Given the description of an element on the screen output the (x, y) to click on. 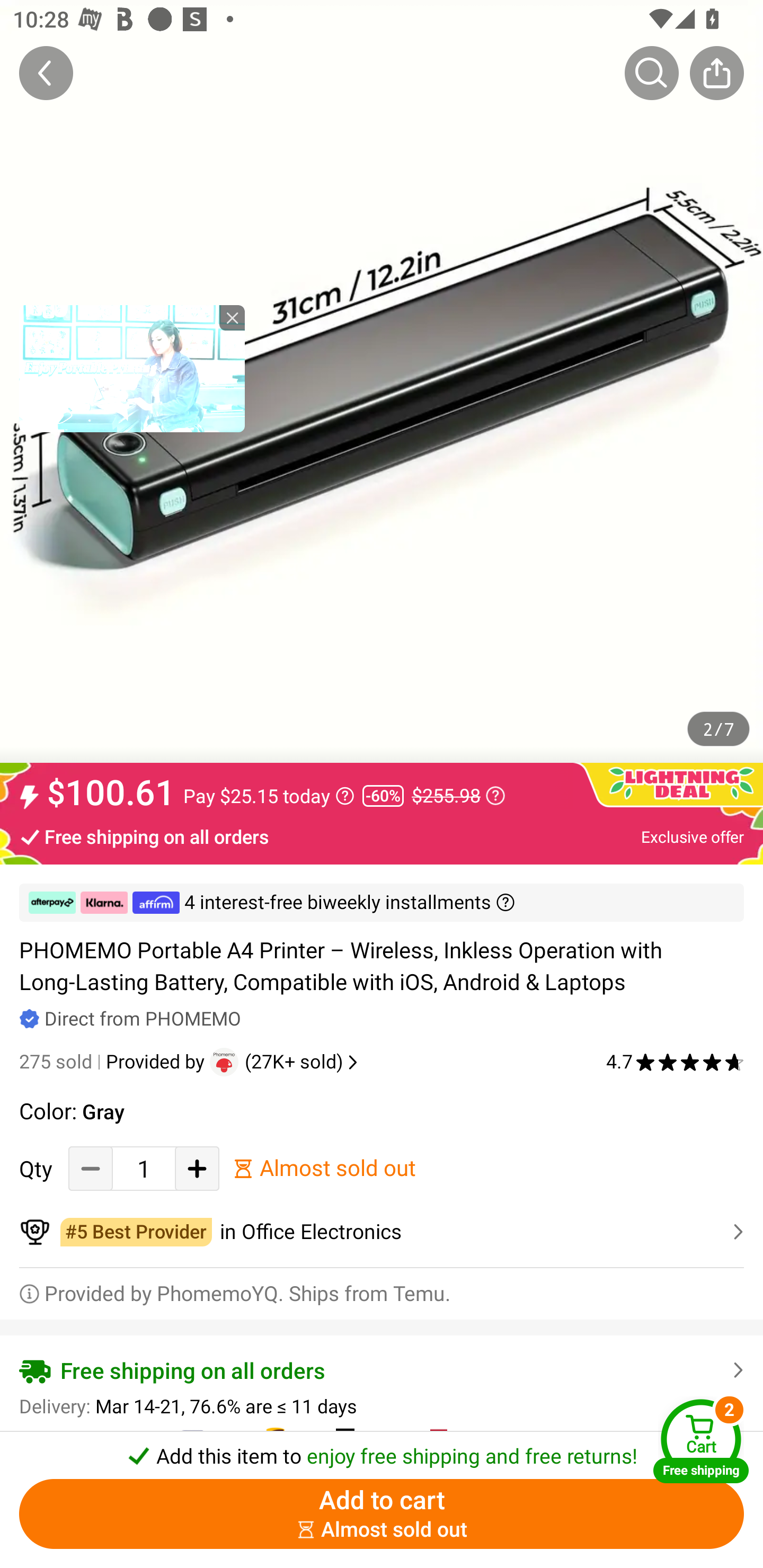
Back (46, 72)
Share (716, 72)
tronplayer_view (131, 368)
Pay $25.15 today   (268, 795)
Free shipping on all orders Exclusive offer (381, 836)
￼ ￼ ￼ 4 interest-free biweekly installments ￼ (381, 902)
4.7 (674, 1061)
Decrease Quantity Button (90, 1168)
1 (143, 1168)
Add Quantity button (196, 1168)
￼￼in Office Electronics (381, 1231)
Cart Free shipping Cart (701, 1440)
Add to cart ￼￼Almost sold out (381, 1513)
